Given the description of an element on the screen output the (x, y) to click on. 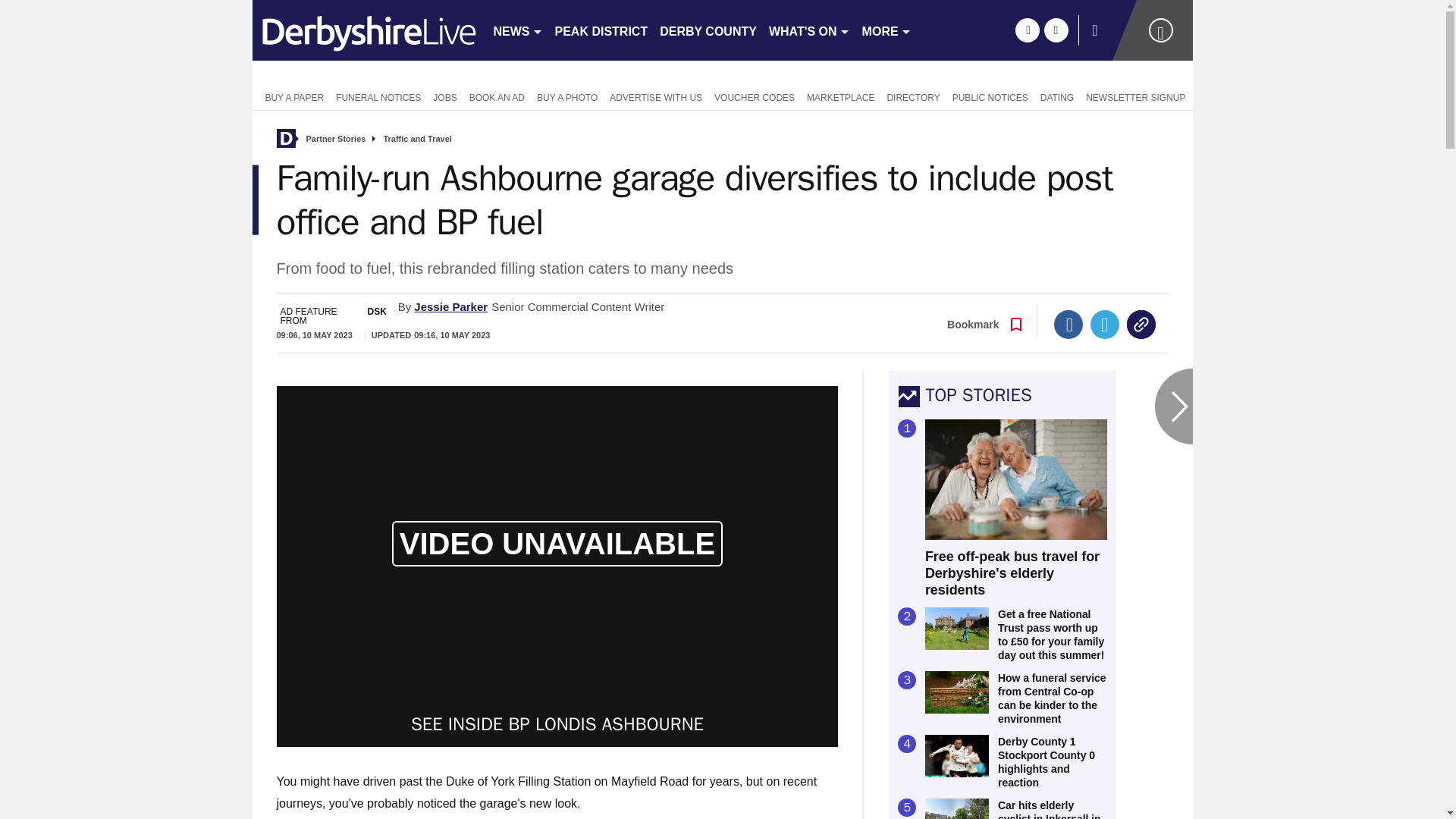
DERBY COUNTY (707, 30)
MORE (886, 30)
facebook (1026, 30)
WHAT'S ON (809, 30)
derbytelegraph (365, 30)
PEAK DISTRICT (600, 30)
NEWS (517, 30)
Twitter (1104, 324)
twitter (1055, 30)
Facebook (1068, 324)
